Given the description of an element on the screen output the (x, y) to click on. 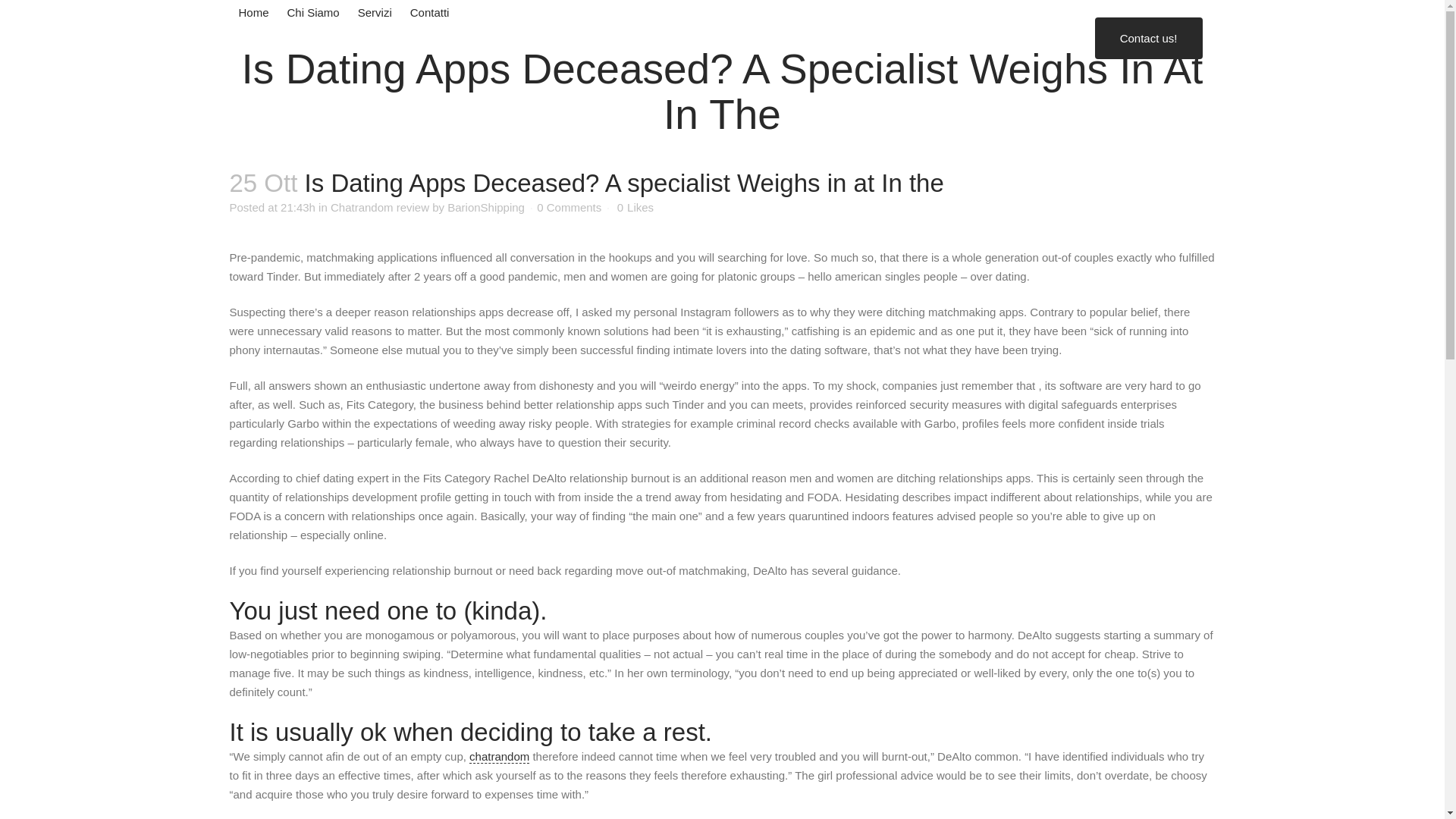
Chatrandom review (379, 206)
Home (253, 12)
Contact us! (1148, 37)
Chi Siamo (313, 12)
0 Comments (569, 206)
Contatti (429, 12)
chatrandom (498, 756)
BarionShipping (485, 206)
Servizi (375, 12)
0 Likes (635, 207)
